Given the description of an element on the screen output the (x, y) to click on. 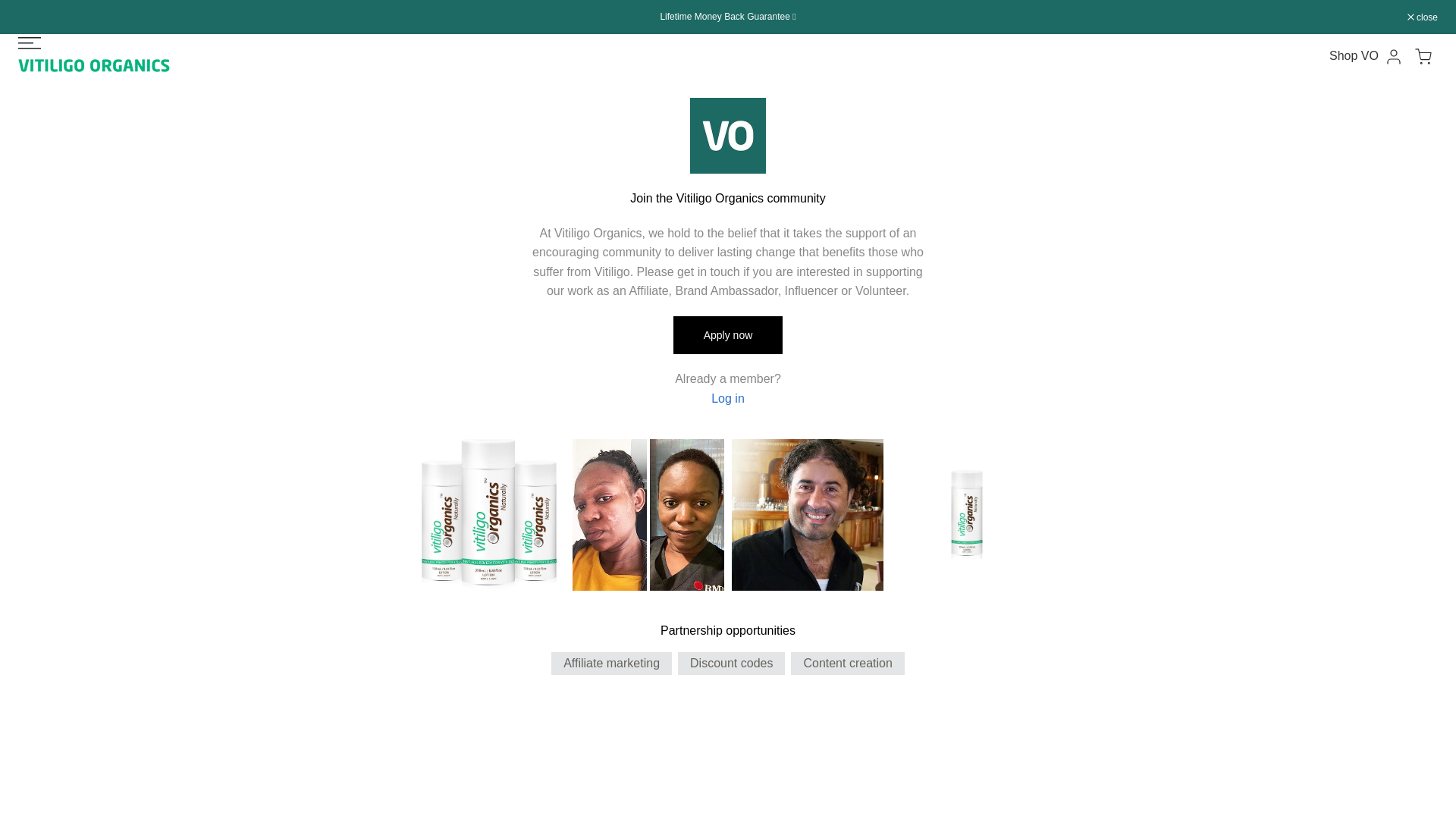
Skip to content (10, 7)
Shop VO (1353, 55)
Apply now (727, 334)
Log in (727, 398)
close (1422, 16)
